Given the description of an element on the screen output the (x, y) to click on. 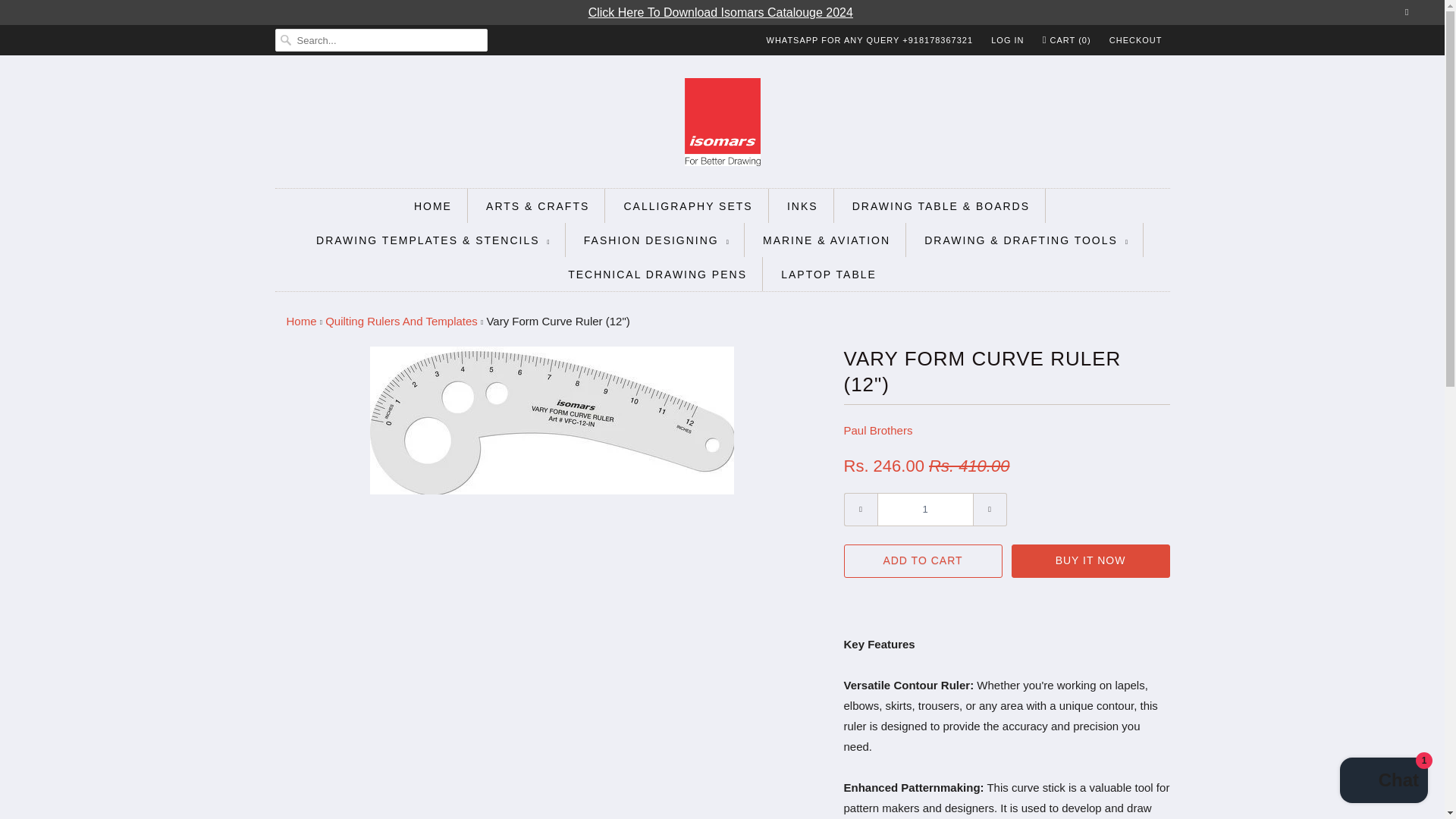
Quilting Rulers And Templates (400, 320)
1 (924, 509)
CHECKOUT (1135, 39)
Paul Brothers (877, 430)
LOG IN (1007, 39)
Shopify online store chat (1383, 781)
HOME (432, 206)
INKS (802, 206)
CALLIGRAPHY SETS (687, 206)
Isomars (301, 320)
Isomars (722, 124)
